Given the description of an element on the screen output the (x, y) to click on. 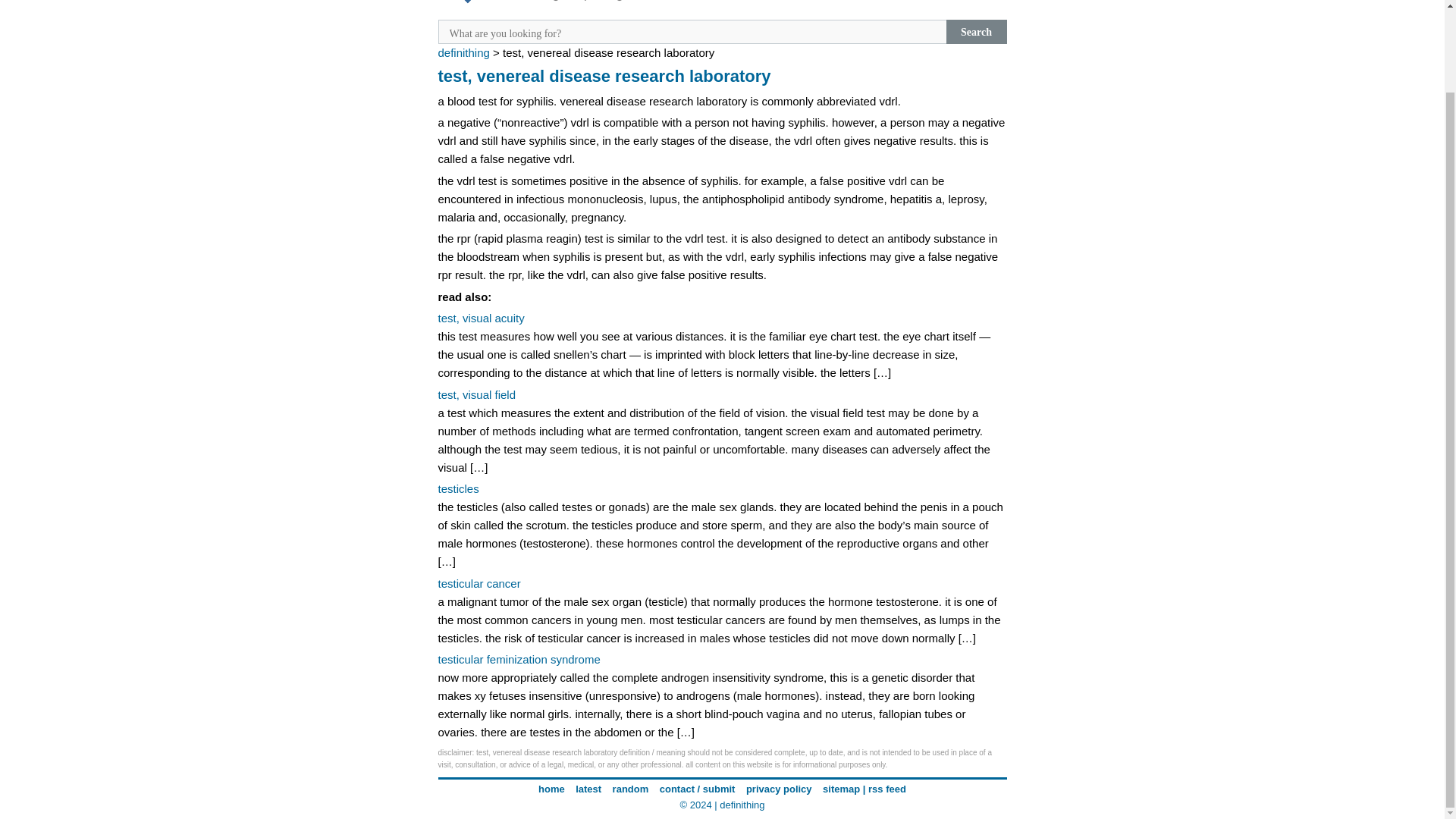
testicular cancer (479, 583)
Search (976, 31)
latest (588, 788)
random (630, 788)
test, visual acuity (481, 318)
home (551, 788)
test, visual field (477, 394)
test, venereal disease research laboratory (604, 75)
testicular feminization syndrome (518, 658)
rss feed (886, 788)
sitemap (841, 788)
definithing (741, 804)
privacy policy (778, 788)
testicles (458, 488)
definithing (463, 51)
